Given the description of an element on the screen output the (x, y) to click on. 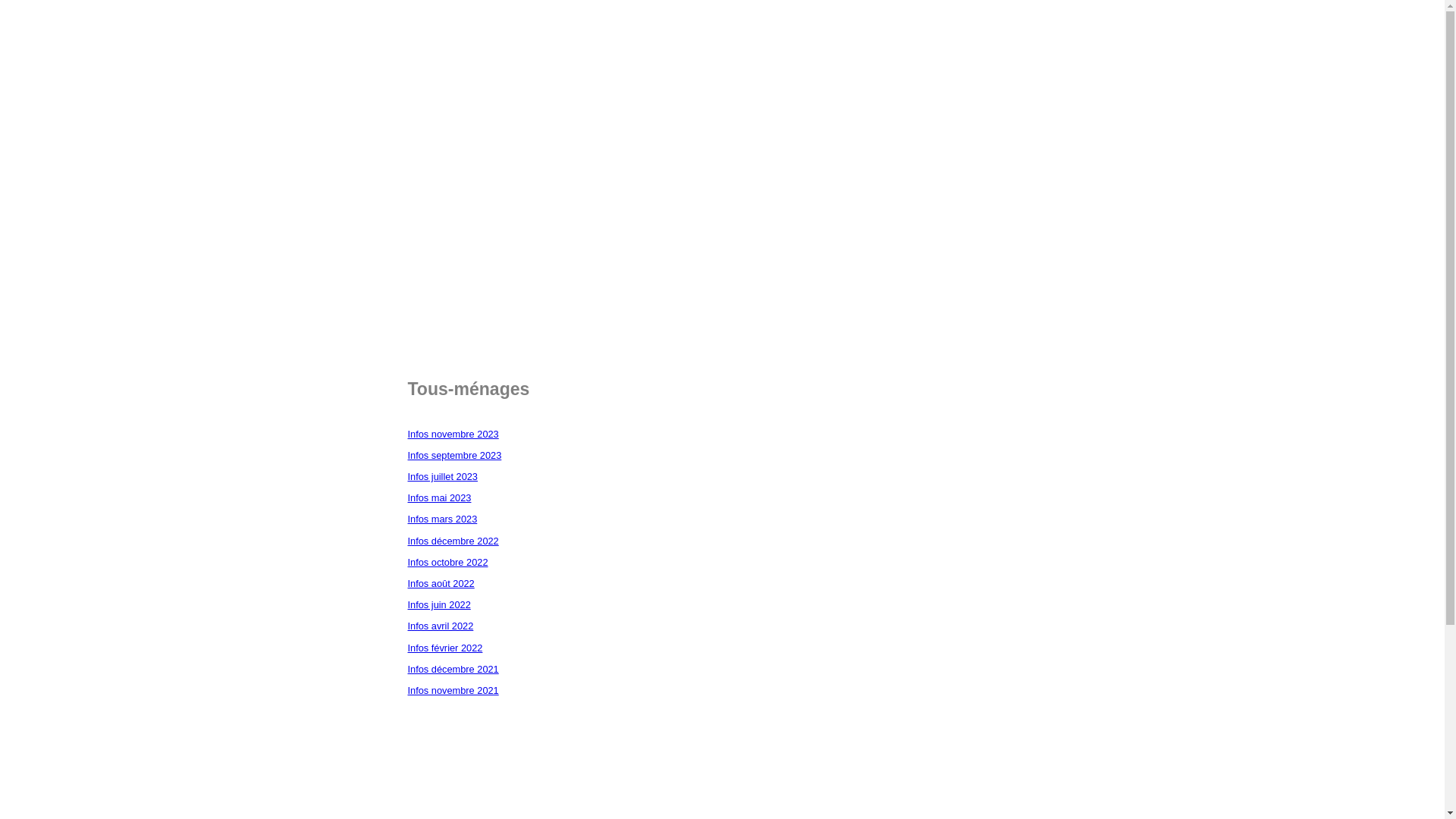
Pratique Element type: text (234, 55)
Infos juin 2022 Element type: text (438, 604)
Portrait Element type: text (401, 55)
Infos mai 2023 Element type: text (439, 497)
Infos juillet 2023 Element type: text (442, 476)
Pilier Public Element type: text (136, 55)
Infos avril 2022 Element type: text (440, 625)
Infos novembre 2021 Element type: text (452, 690)
Accueil Element type: text (41, 55)
Infos mars 2023 Element type: text (442, 518)
Officiel Element type: text (319, 55)
Infos septembre 2023 Element type: text (454, 455)
Infos octobre 2022 Element type: text (447, 561)
Infos novembre 2023 Element type: text (452, 433)
Adresses utiles Element type: text (505, 55)
COVID-19 Element type: text (55, 236)
